Given the description of an element on the screen output the (x, y) to click on. 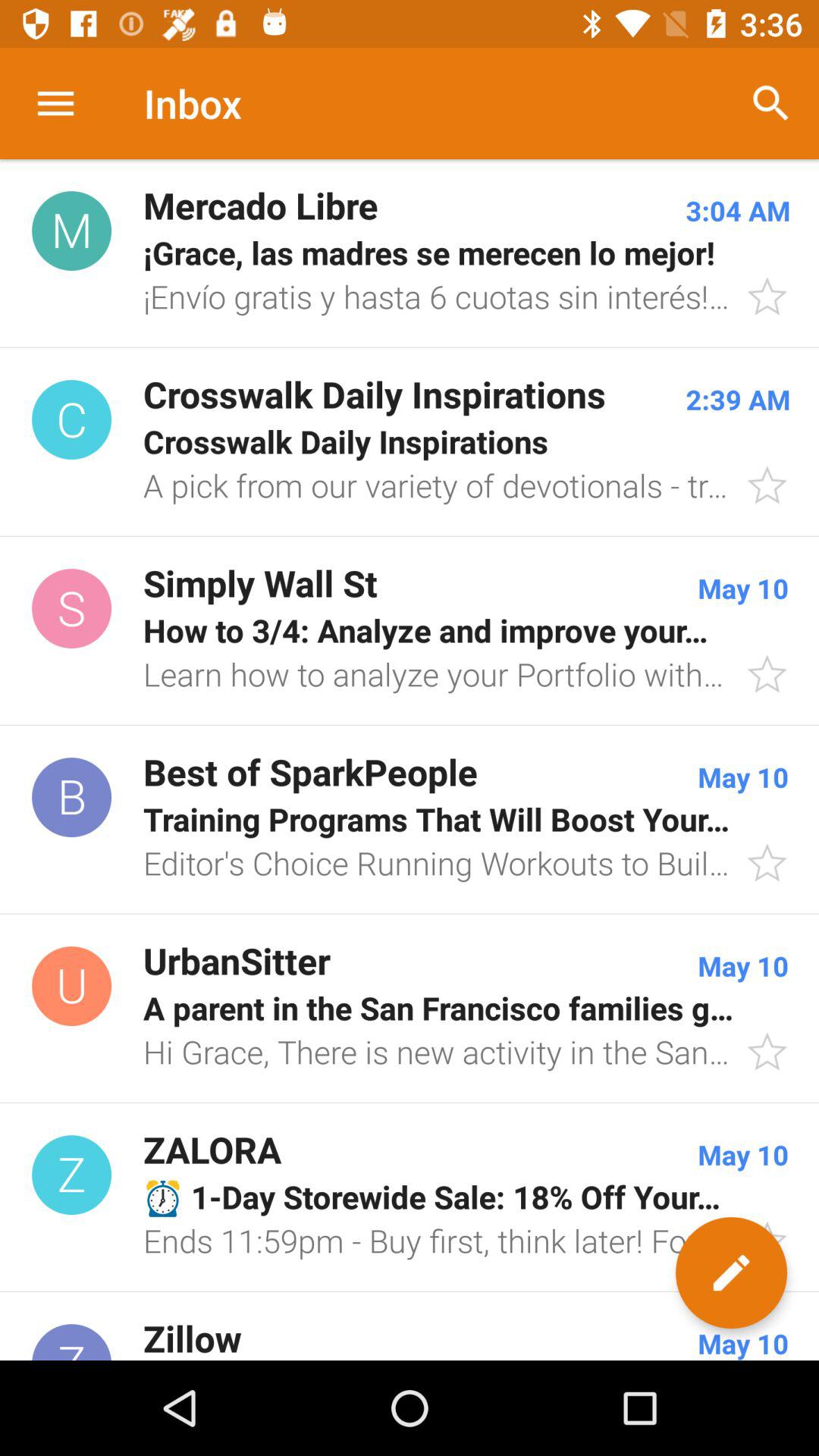
open the icon to the right of inbox (771, 103)
